Given the description of an element on the screen output the (x, y) to click on. 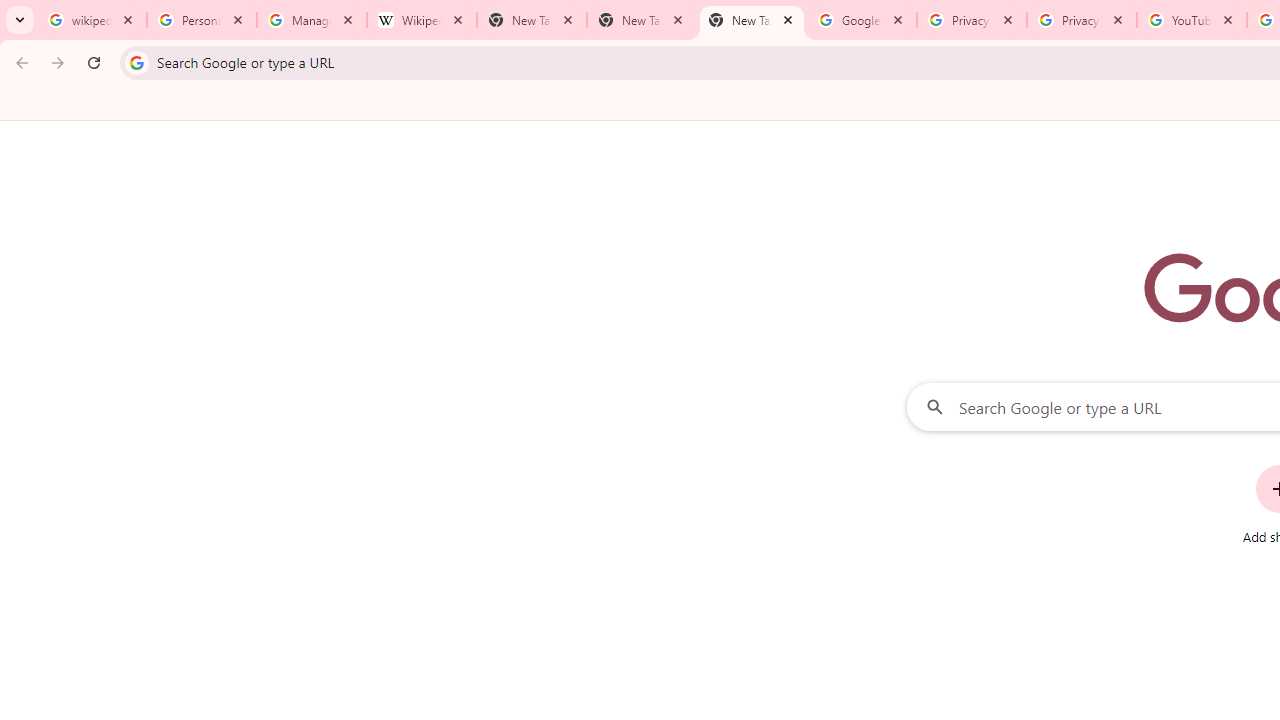
New Tab (752, 20)
Search icon (136, 62)
Wikipedia:Edit requests - Wikipedia (422, 20)
Google Drive: Sign-in (861, 20)
YouTube (1191, 20)
New Tab (642, 20)
Manage your Location History - Google Search Help (312, 20)
